Given the description of an element on the screen output the (x, y) to click on. 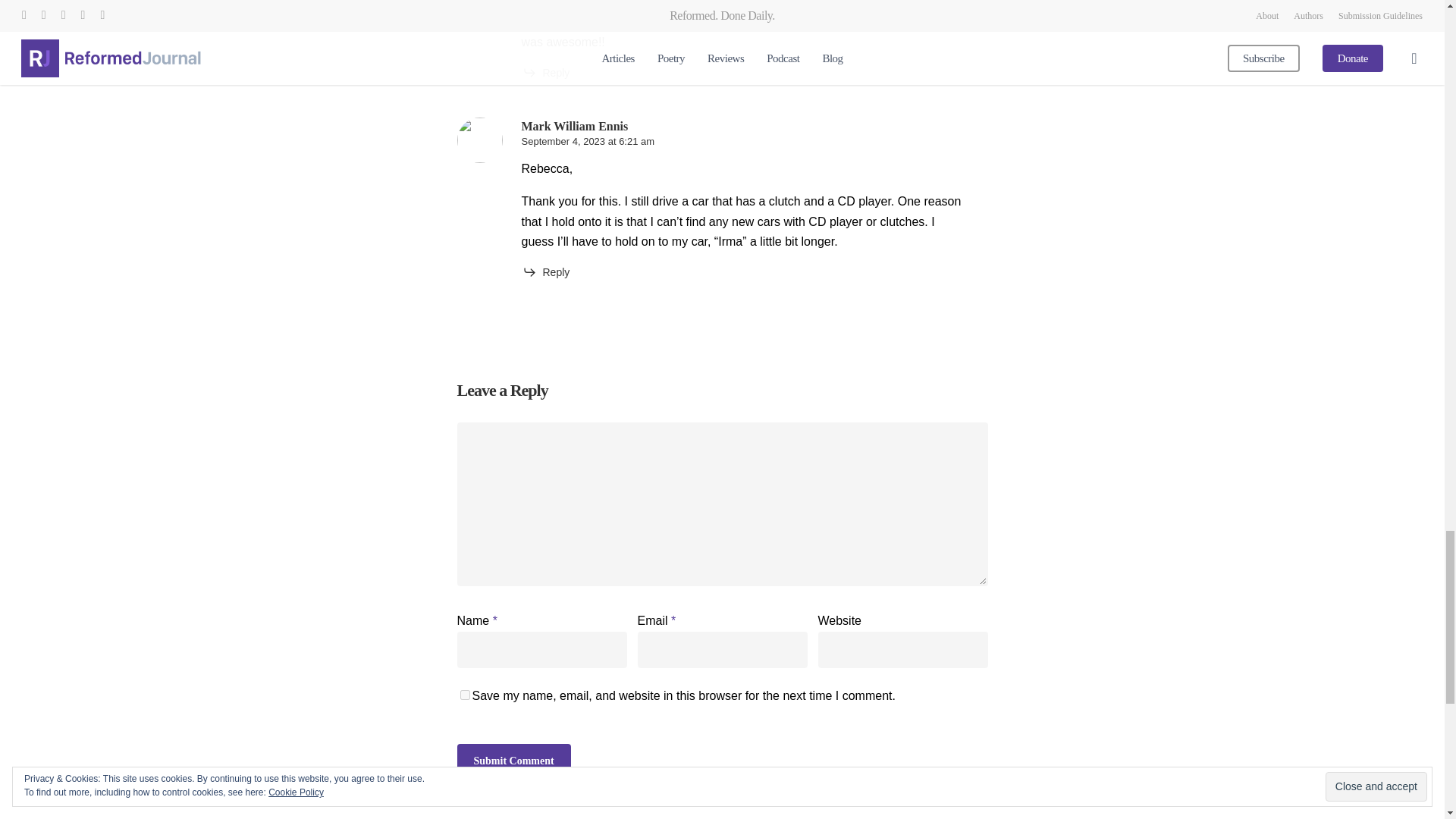
Submit Comment (513, 760)
yes (464, 695)
Reply (545, 72)
